Given the description of an element on the screen output the (x, y) to click on. 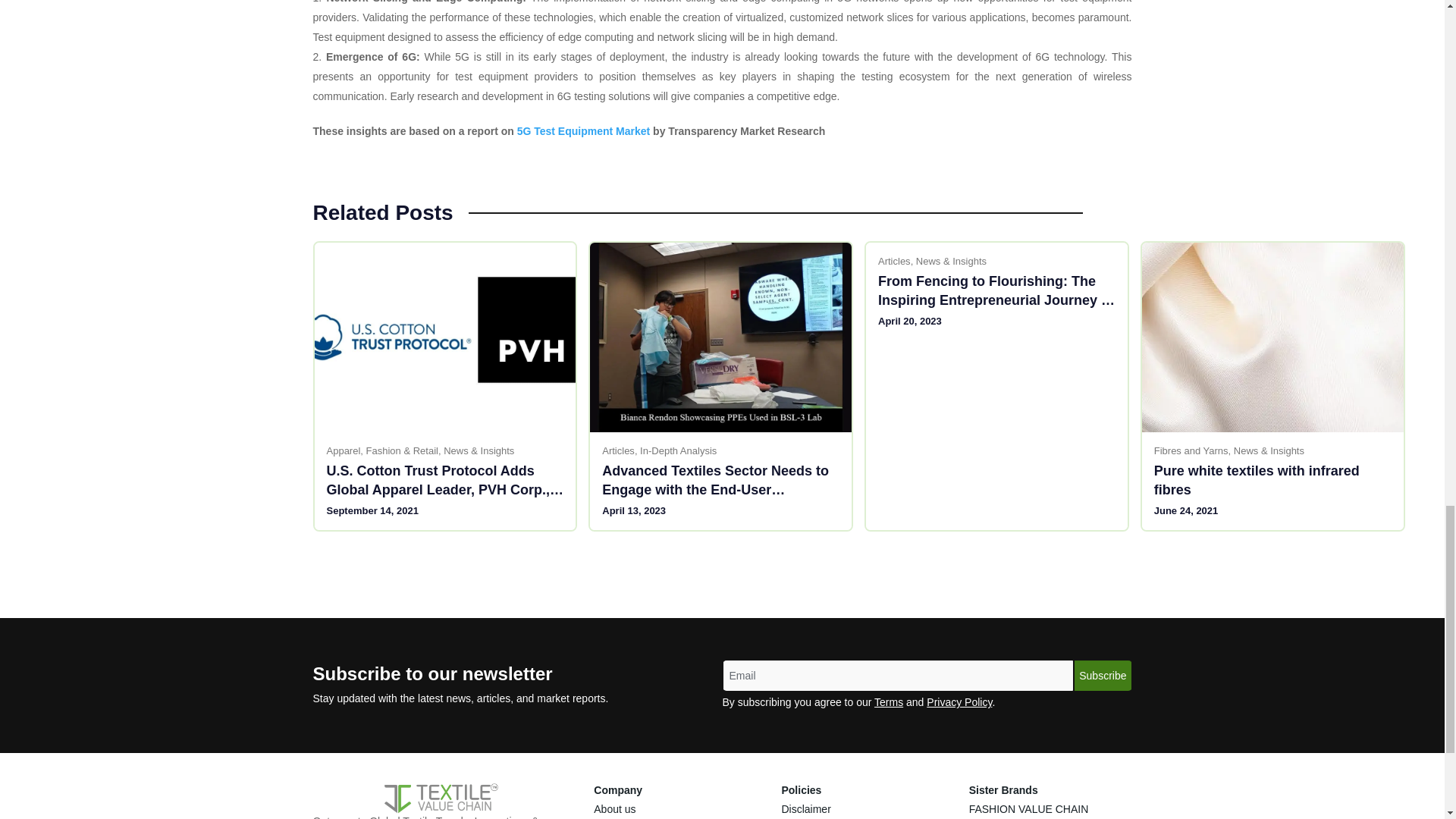
Subscribe (1102, 675)
